Given the description of an element on the screen output the (x, y) to click on. 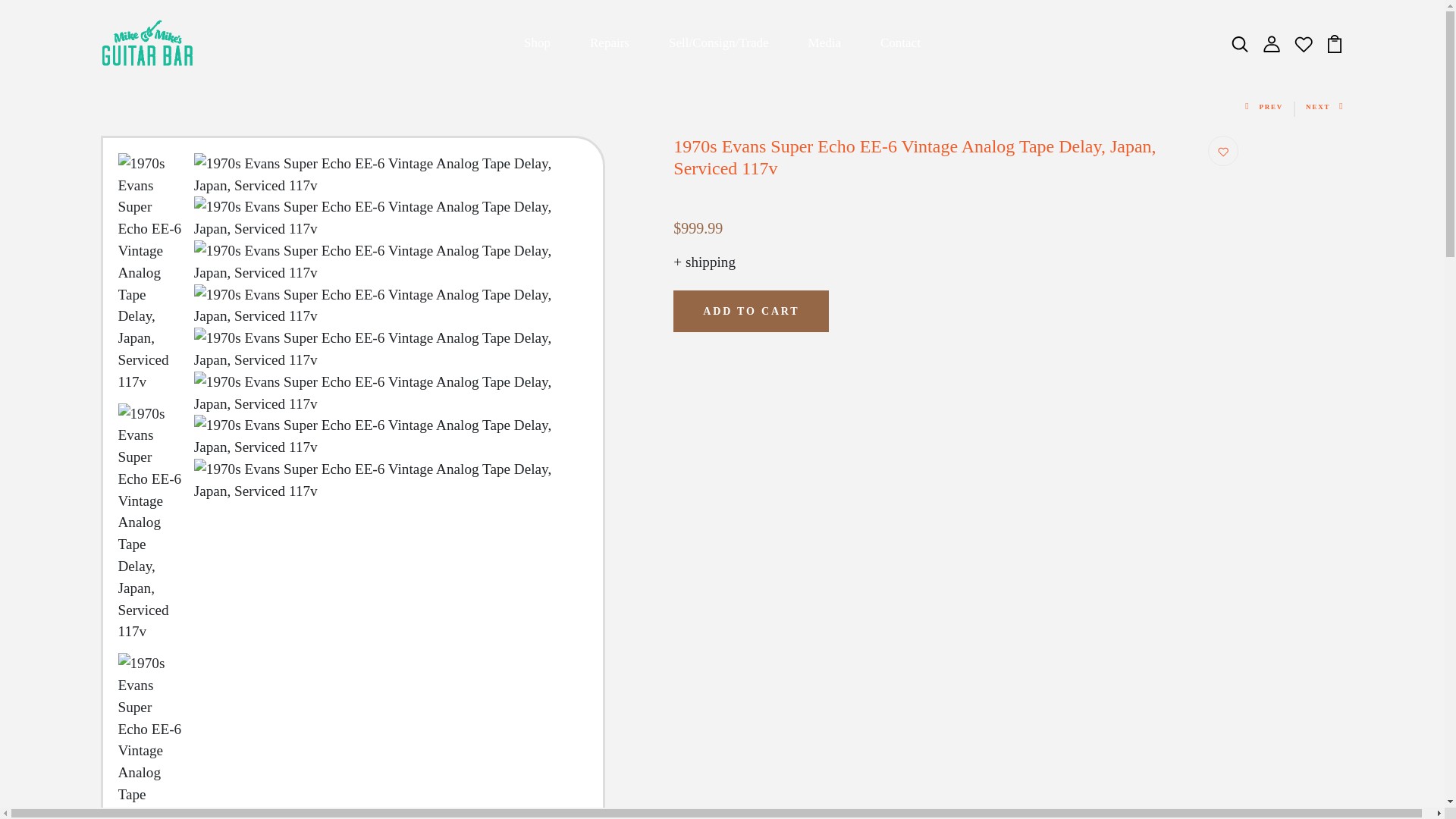
Shop (537, 42)
Contact (900, 42)
Contact (900, 42)
Media (824, 42)
Repairs (608, 42)
Log In (722, 494)
register (722, 759)
Media (824, 42)
Repairs (608, 42)
Shop (537, 42)
